Given the description of an element on the screen output the (x, y) to click on. 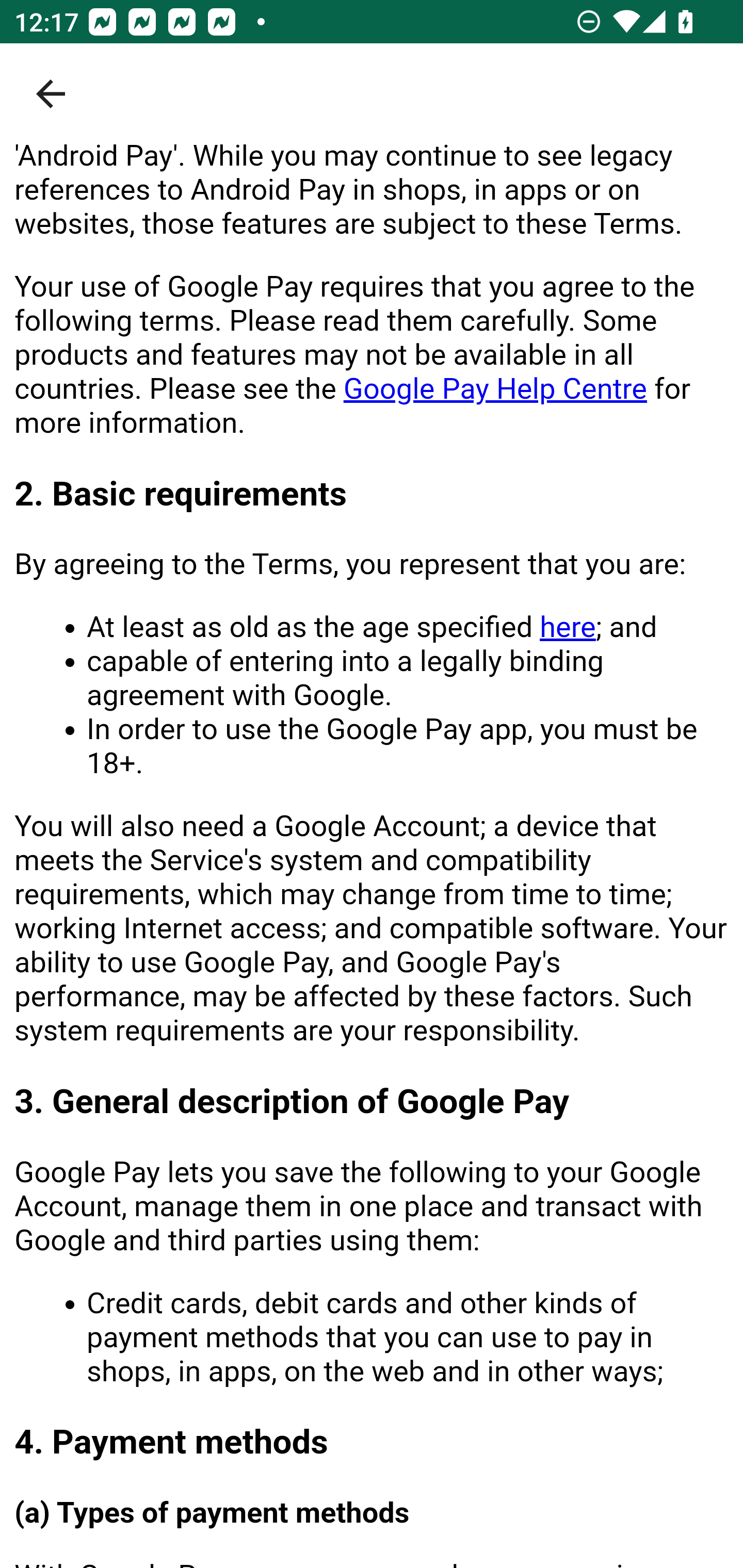
Navigate up (50, 93)
Google Pay Help Centre (495, 390)
here (566, 628)
